Given the description of an element on the screen output the (x, y) to click on. 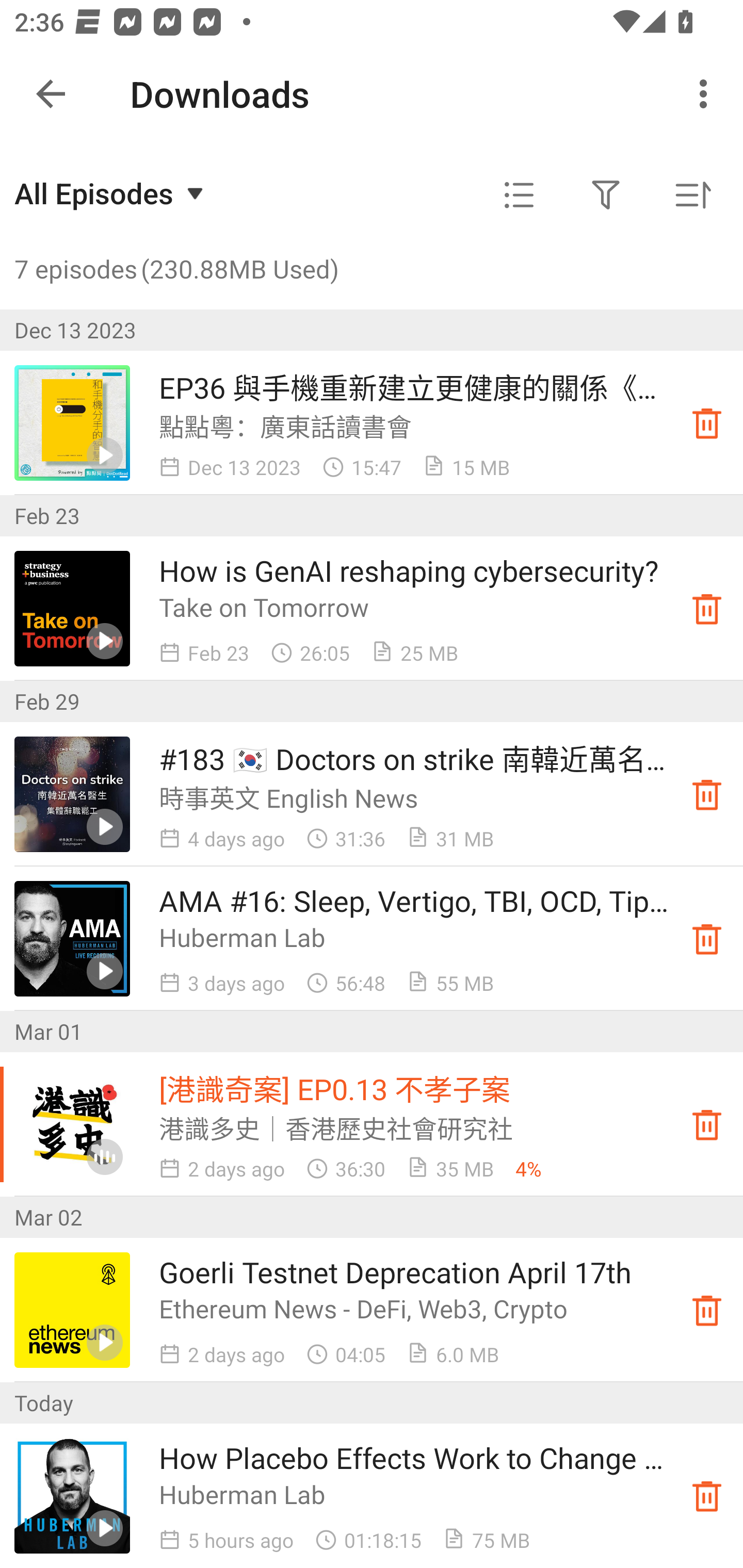
Navigate up (50, 93)
More options (706, 93)
All Episodes (111, 192)
 (518, 195)
 (605, 195)
 Sorted by oldest first (692, 195)
Downloaded (706, 423)
Downloaded (706, 608)
Downloaded (706, 794)
Downloaded (706, 938)
Downloaded (706, 1124)
Downloaded (706, 1309)
Downloaded (706, 1495)
